Given the description of an element on the screen output the (x, y) to click on. 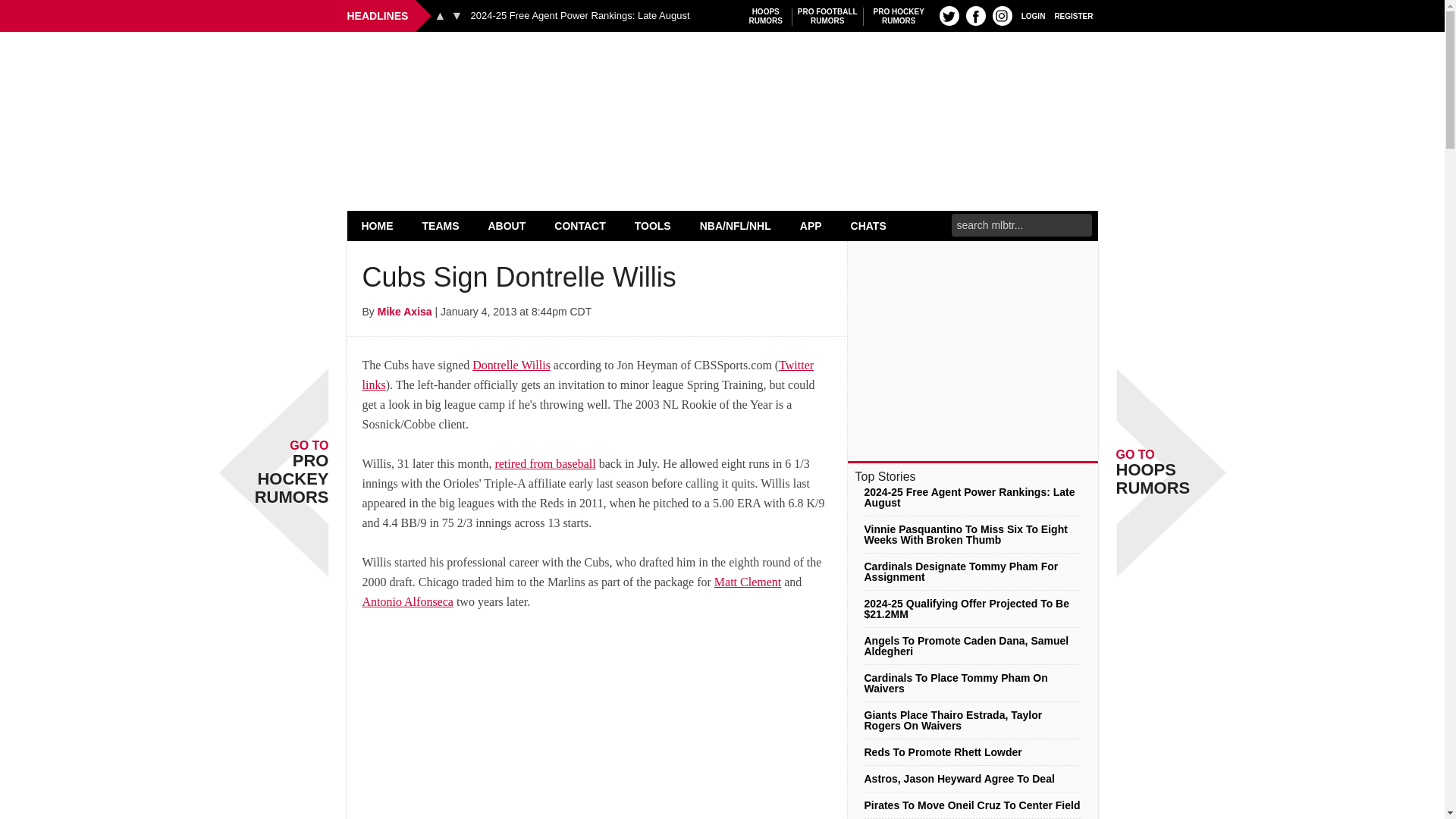
Next (456, 15)
MLB Trade Rumors (722, 69)
REGISTER (1073, 15)
TEAMS (440, 225)
HOME (377, 225)
LOGIN (1032, 15)
Twitter profile (949, 15)
Instagram profile (1001, 15)
